Given the description of an element on the screen output the (x, y) to click on. 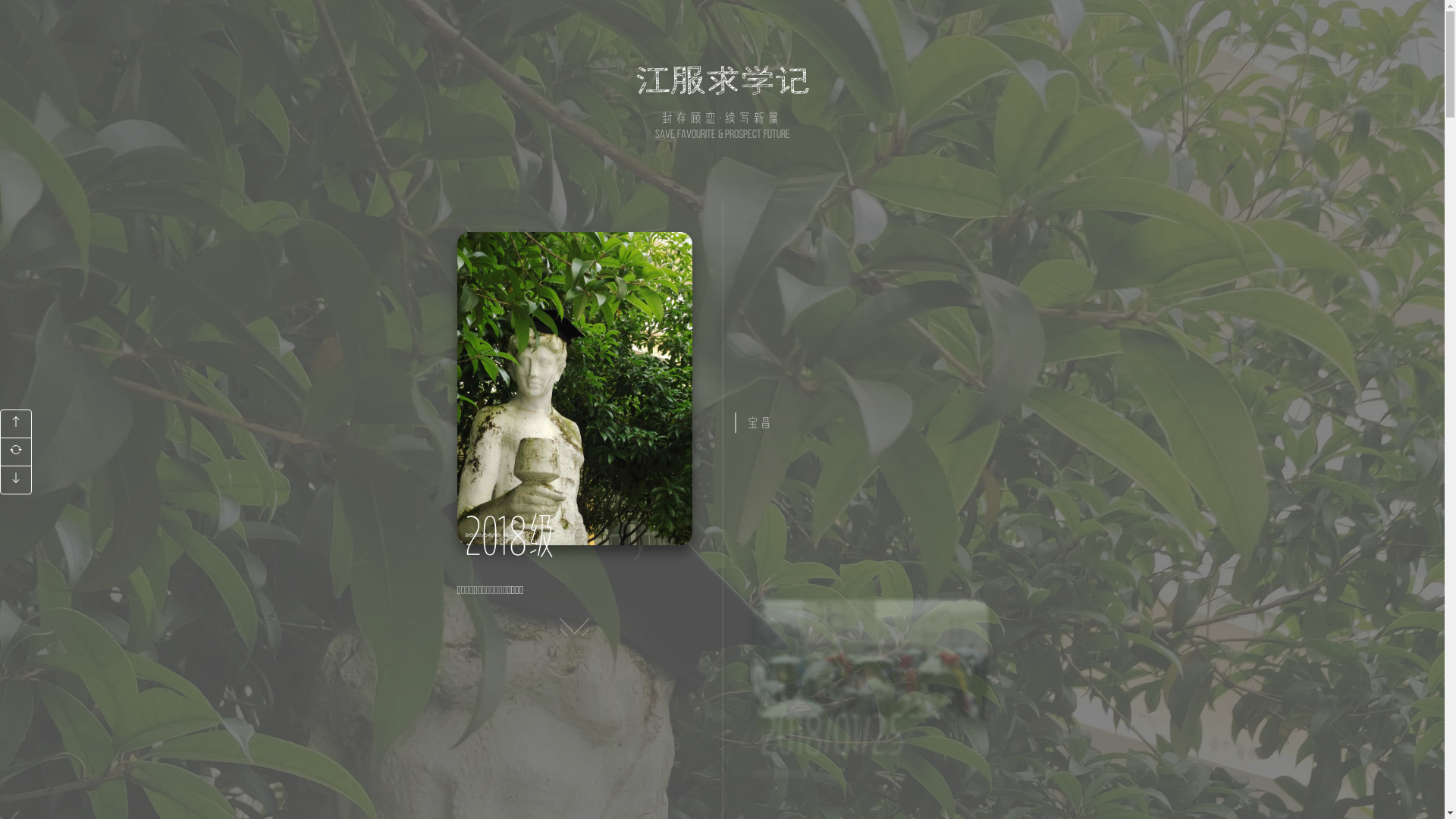
Change image Element type: text (573, 388)
